Given the description of an element on the screen output the (x, y) to click on. 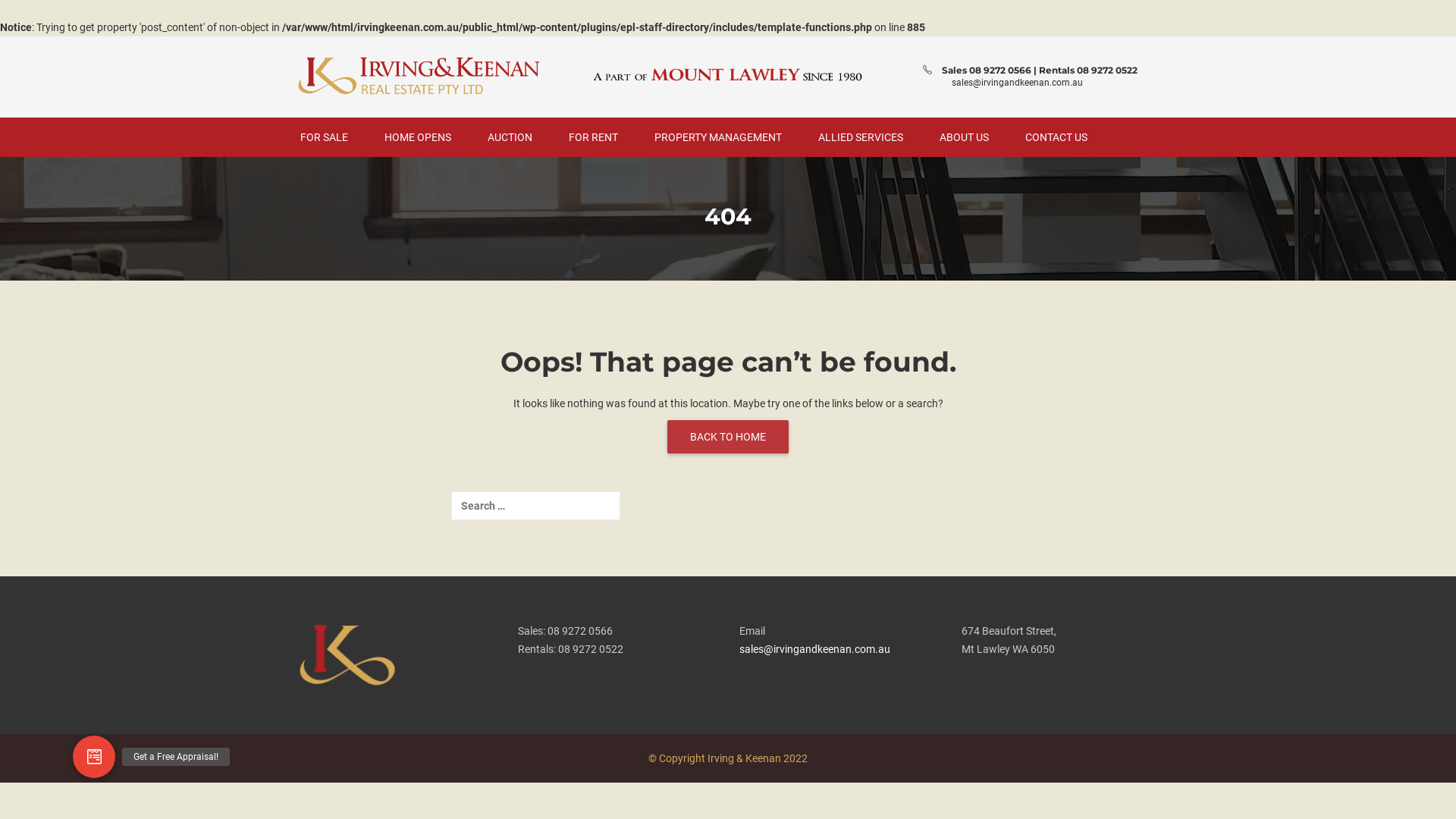
CONTACT US Element type: text (1056, 137)
BACK TO HOME Element type: text (727, 436)
ALLIED SERVICES Element type: text (860, 137)
sales@irvingandkeenan.com.au Element type: text (1016, 82)
PROPERTY MANAGEMENT Element type: text (717, 137)
sales@irvingandkeenan.com.au Element type: text (814, 649)
FOR RENT Element type: text (592, 137)
Sales 08 9272 0566 | Rentals 08 9272 0522 Element type: text (1039, 69)
Search Element type: text (42, 16)
FOR SALE Element type: text (324, 137)
Get a Free Appraisal! Element type: text (93, 756)
AUCTION Element type: text (509, 137)
ABOUT US Element type: text (963, 137)
HOME OPENS Element type: text (417, 137)
